Given the description of an element on the screen output the (x, y) to click on. 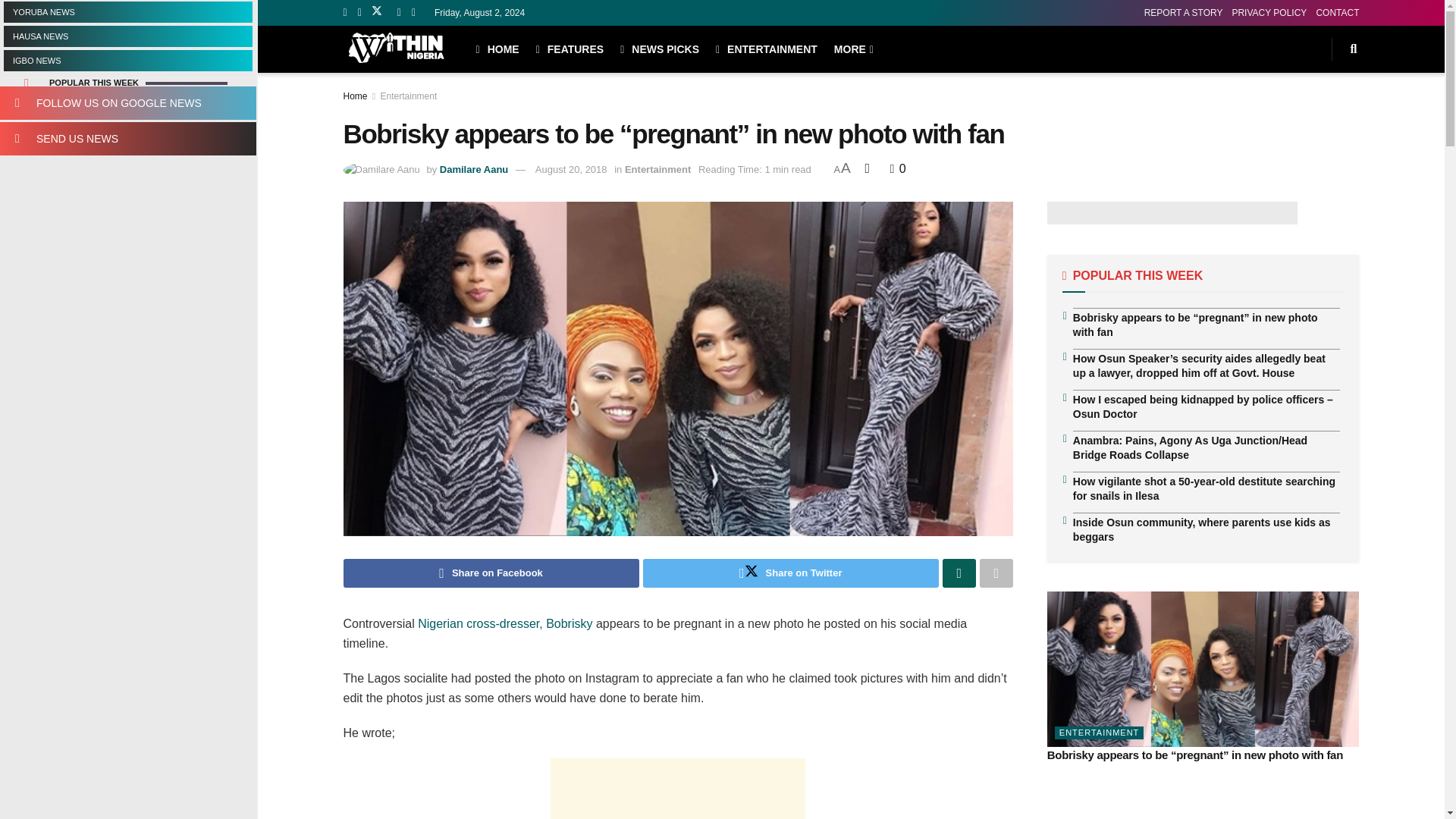
WITHIN NIGERIA ON GOOGLE NEWS (128, 102)
FEATURES (569, 48)
Advertisement (677, 788)
YORUBA NEWS (127, 11)
SEND NEWS TO WITHIN NIGERIA (128, 138)
ENTERTAINMENT (766, 48)
HAUSA NEWS (127, 35)
SEND US NEWS (128, 138)
HOME (497, 48)
NEWS PICKS (659, 48)
